Given the description of an element on the screen output the (x, y) to click on. 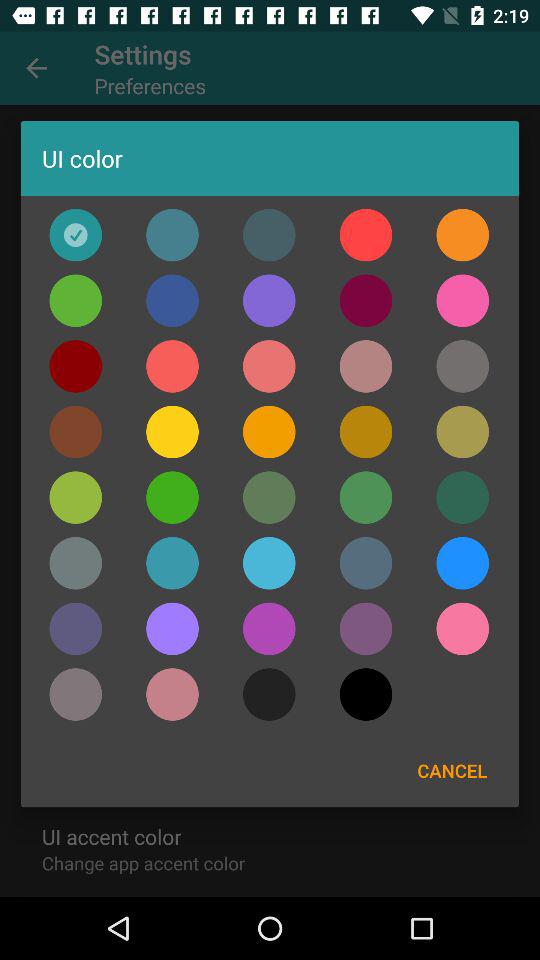
select the color bar (75, 563)
